Given the description of an element on the screen output the (x, y) to click on. 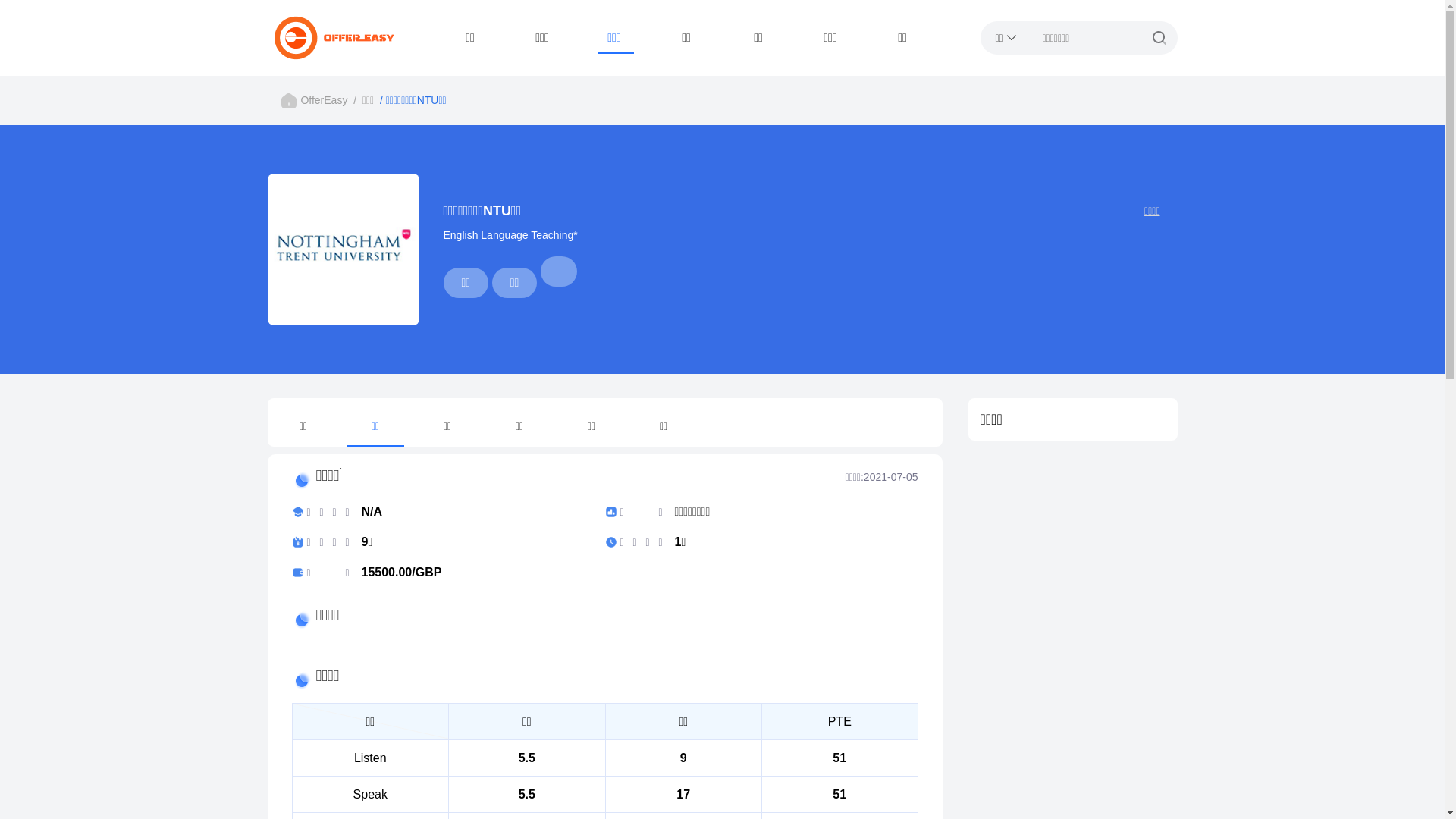
OfferEasy Element type: text (323, 100)
